Given the description of an element on the screen output the (x, y) to click on. 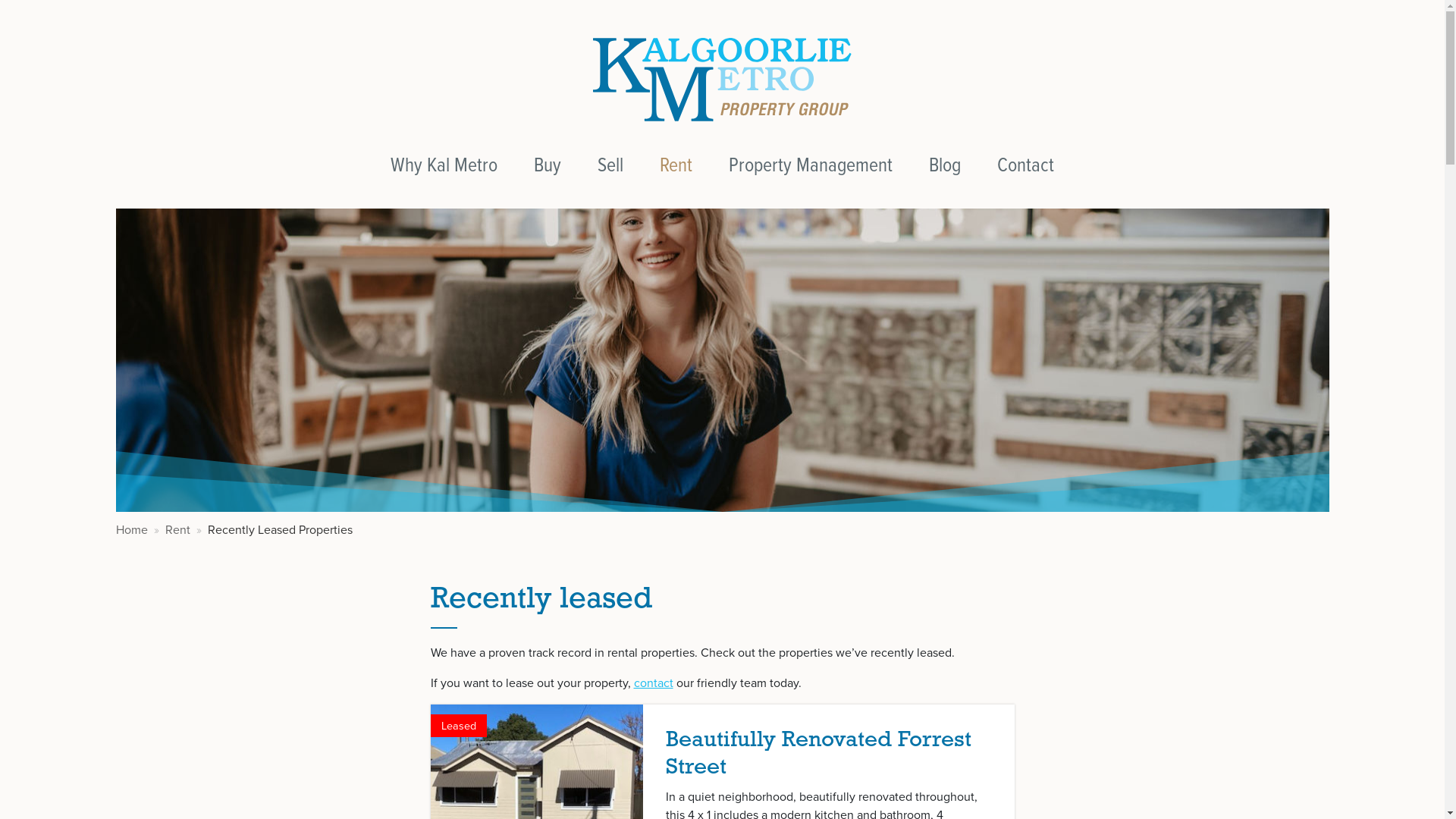
Rent Element type: text (177, 529)
Home Element type: text (131, 529)
Kalgoorlie Metro Property Group Logo Element type: hover (722, 78)
Contact Element type: text (1025, 164)
Property Management Element type: text (810, 164)
Sell Element type: text (610, 164)
Rent Element type: text (675, 164)
Why Kal Metro Element type: text (443, 164)
Beautifully Renovated Forrest Street Element type: text (818, 753)
contact Element type: text (653, 682)
Blog Element type: text (944, 164)
Buy Element type: text (547, 164)
